Given the description of an element on the screen output the (x, y) to click on. 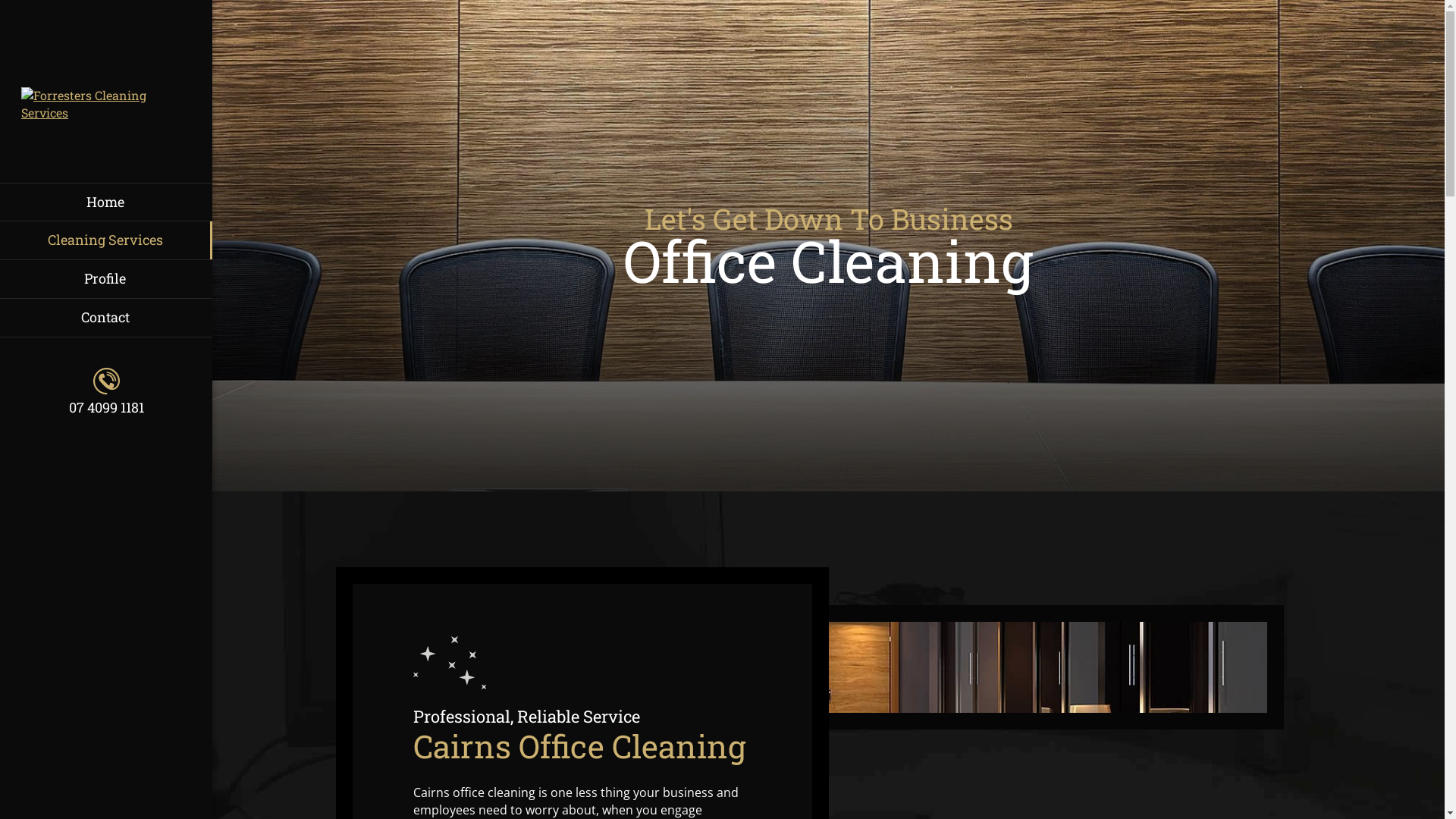
Home Element type: text (106, 202)
Contact Element type: text (106, 317)
Profile Element type: text (106, 279)
07 4099 1181 Element type: text (106, 392)
Cleaning Services Element type: text (106, 240)
